Given the description of an element on the screen output the (x, y) to click on. 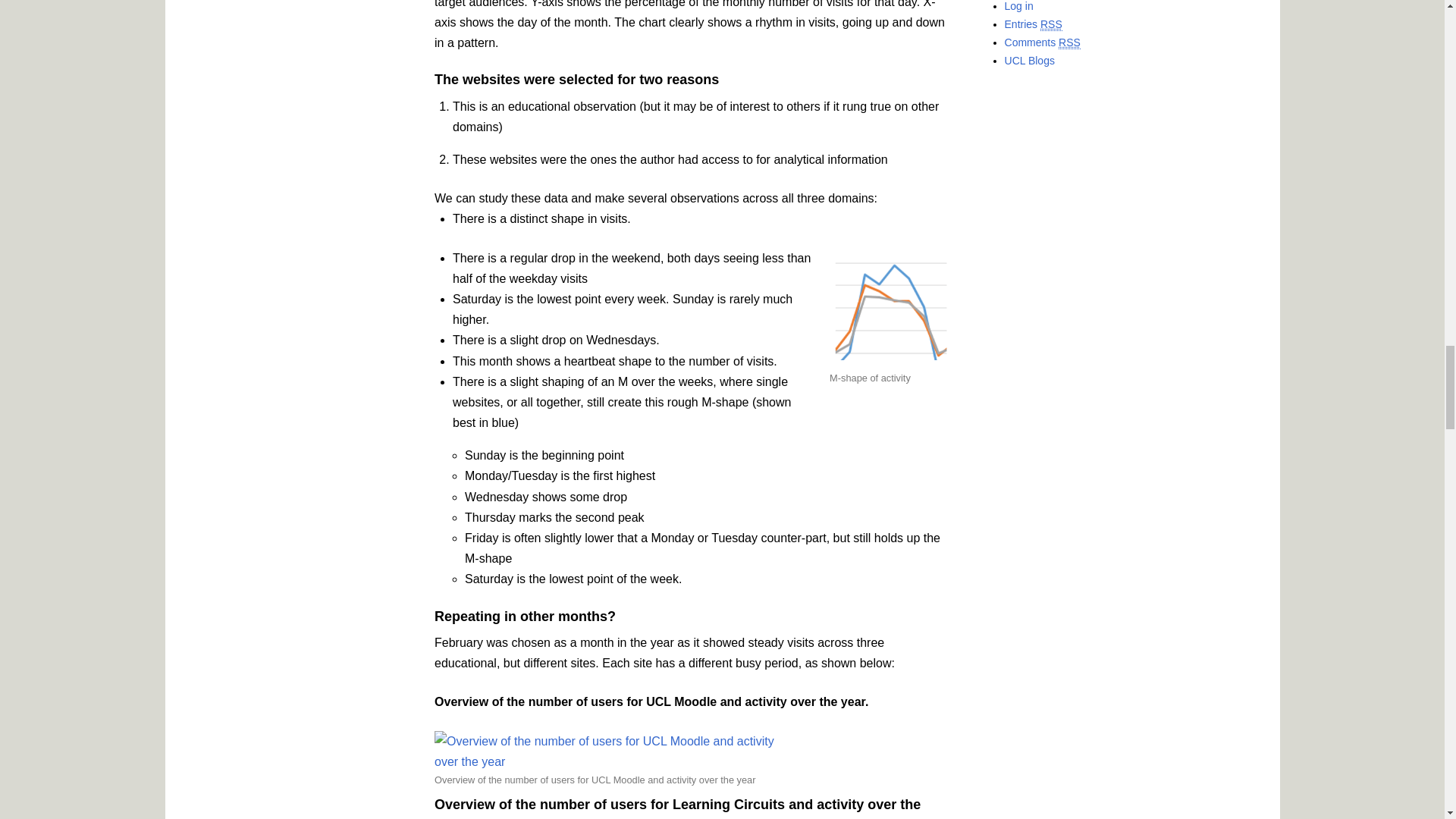
Powered by UCL Blogs (1029, 60)
Really Simple Syndication (1069, 42)
Syndicate this site using RSS 2.0 (1033, 24)
The latest comments to all posts in RSS (1042, 42)
Really Simple Syndication (1051, 24)
